Given the description of an element on the screen output the (x, y) to click on. 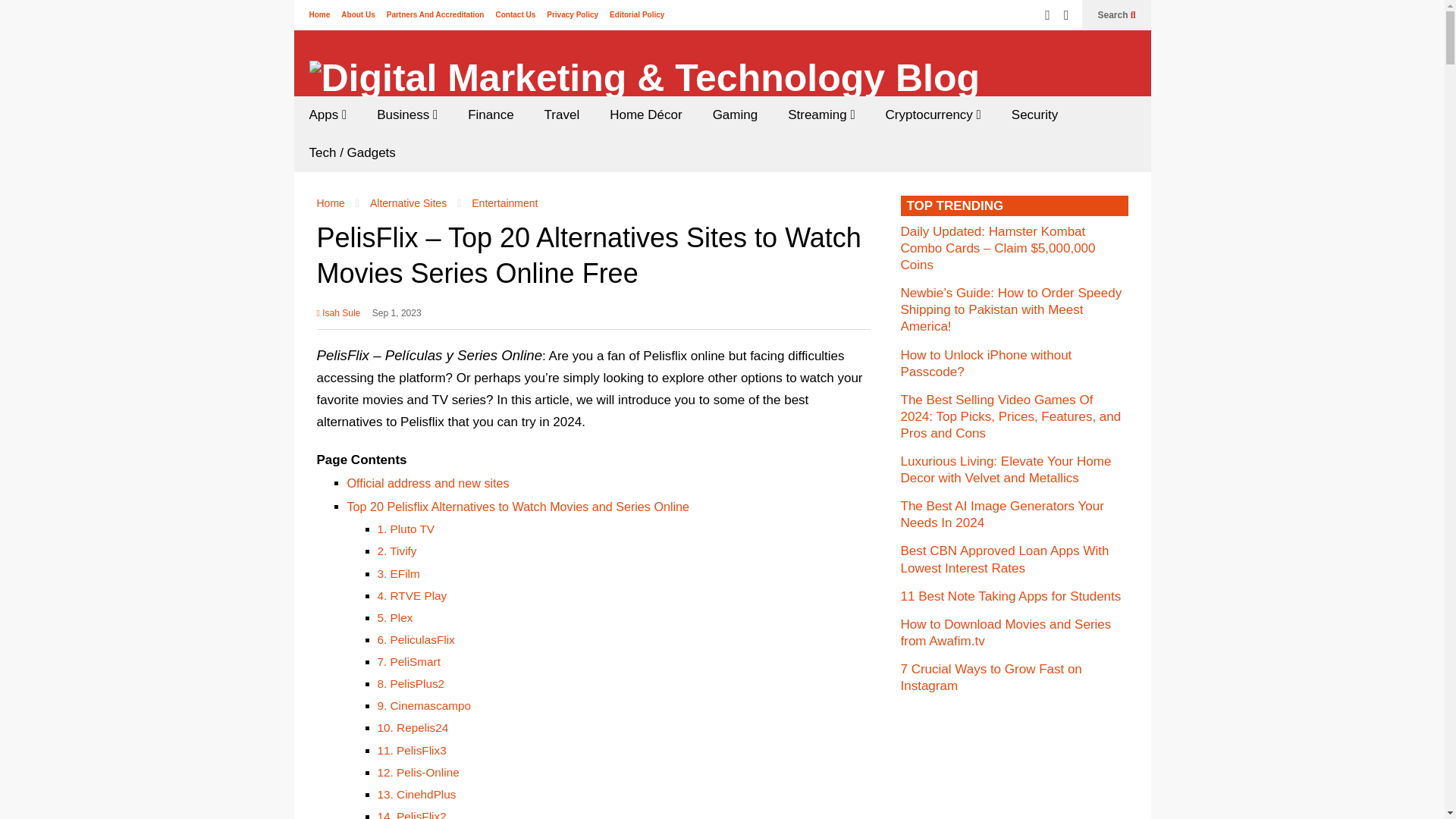
Finance (490, 115)
Gaming (735, 115)
Streaming (821, 115)
Partners And Accreditation (435, 14)
Home (319, 14)
Travel (562, 115)
Privacy Policy (572, 14)
Editorial Policy (636, 14)
Business (406, 115)
Contact Us (515, 14)
